Given the description of an element on the screen output the (x, y) to click on. 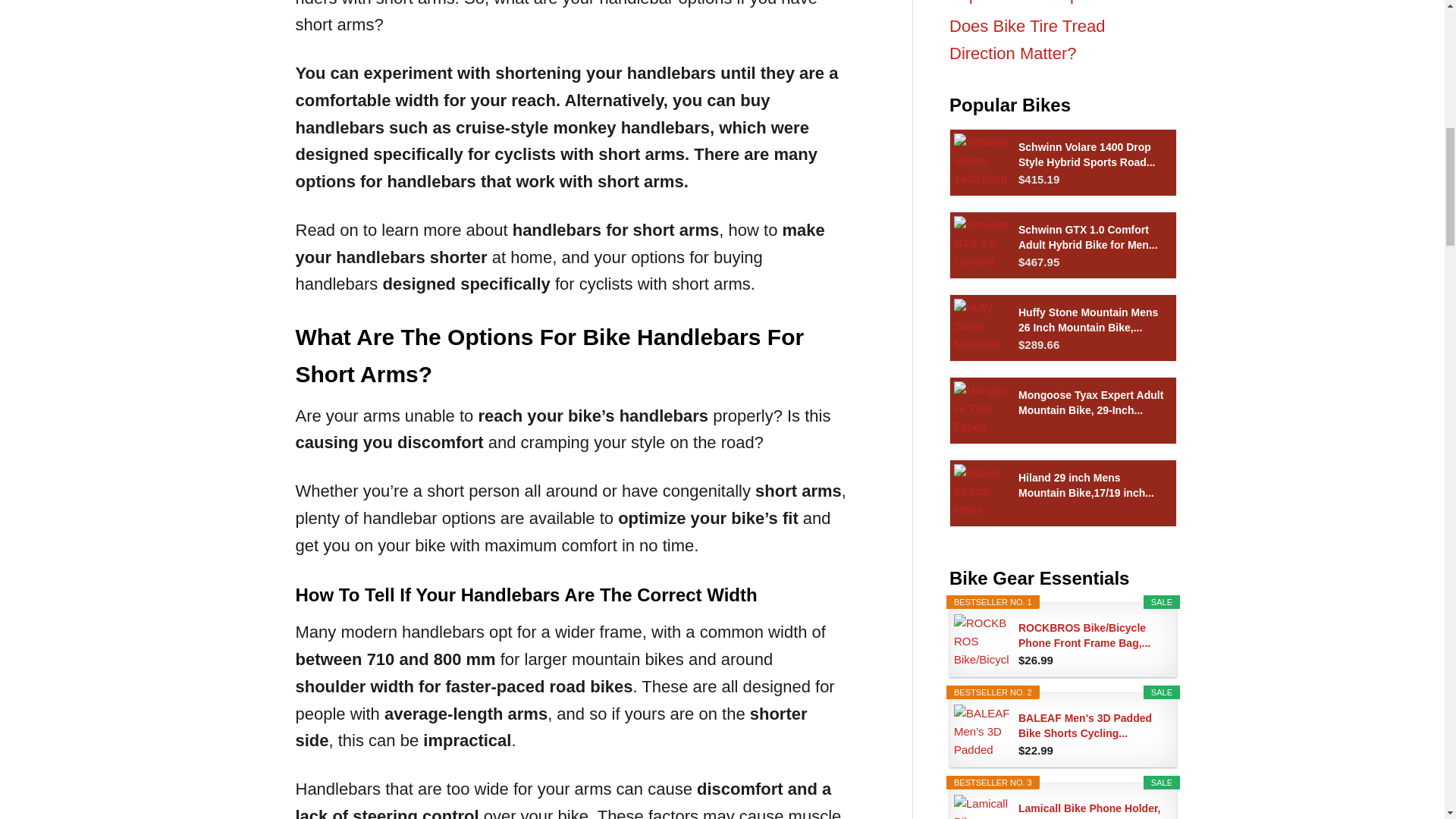
Does Bike Tire Tread Direction Matter? (1027, 39)
Schwinn GTX 1.0 Comfort Adult Hybrid Bike for Men... (1090, 236)
Schwinn Volare 1400 Drop Style Hybrid Sports Road... (1090, 154)
Mongoose Tyax Expert Adult Mountain Bike, 29-Inch... (1090, 401)
Huffy Stone Mountain Mens 26 Inch Mountain Bike,... (1090, 319)
